Given the description of an element on the screen output the (x, y) to click on. 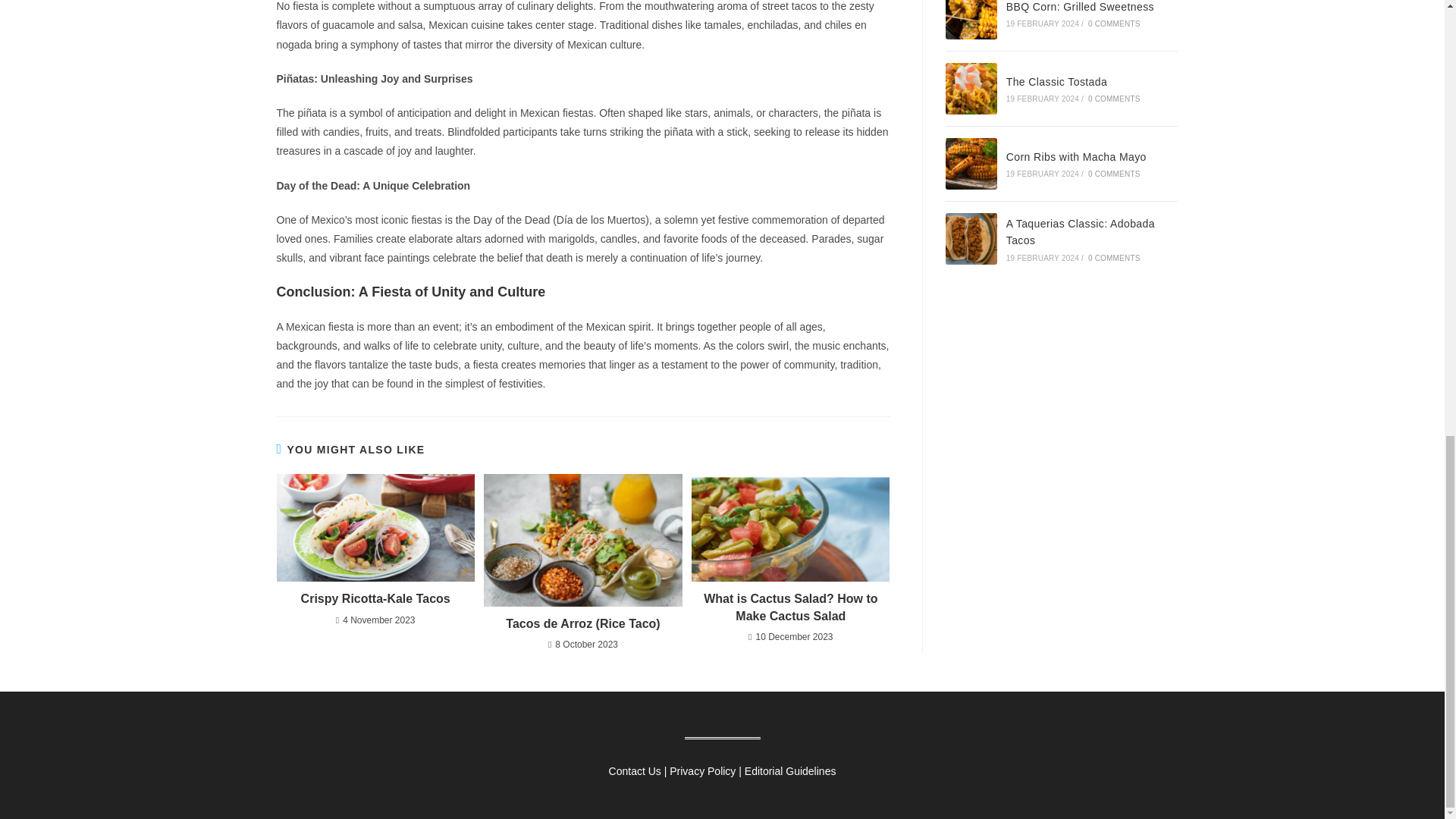
The Classic Tostada (1056, 81)
The Classic Tostada (969, 88)
0 COMMENTS (1113, 173)
Privacy Policy (702, 770)
A Taquerias Classic: Adobada Tacos (1080, 231)
Crispy Ricotta-Kale Tacos (374, 598)
Corn Ribs with Macha Mayo (1076, 156)
What is Cactus Salad? How to Make Cactus Salad (790, 607)
0 COMMENTS (1113, 257)
BBQ Corn: Grilled Sweetness (1080, 6)
Contact Us (634, 770)
Editorial Guidelines (789, 770)
0 COMMENTS (1113, 99)
BBQ Corn: Grilled Sweetness (969, 19)
Corn Ribs with Macha Mayo (969, 163)
